Given the description of an element on the screen output the (x, y) to click on. 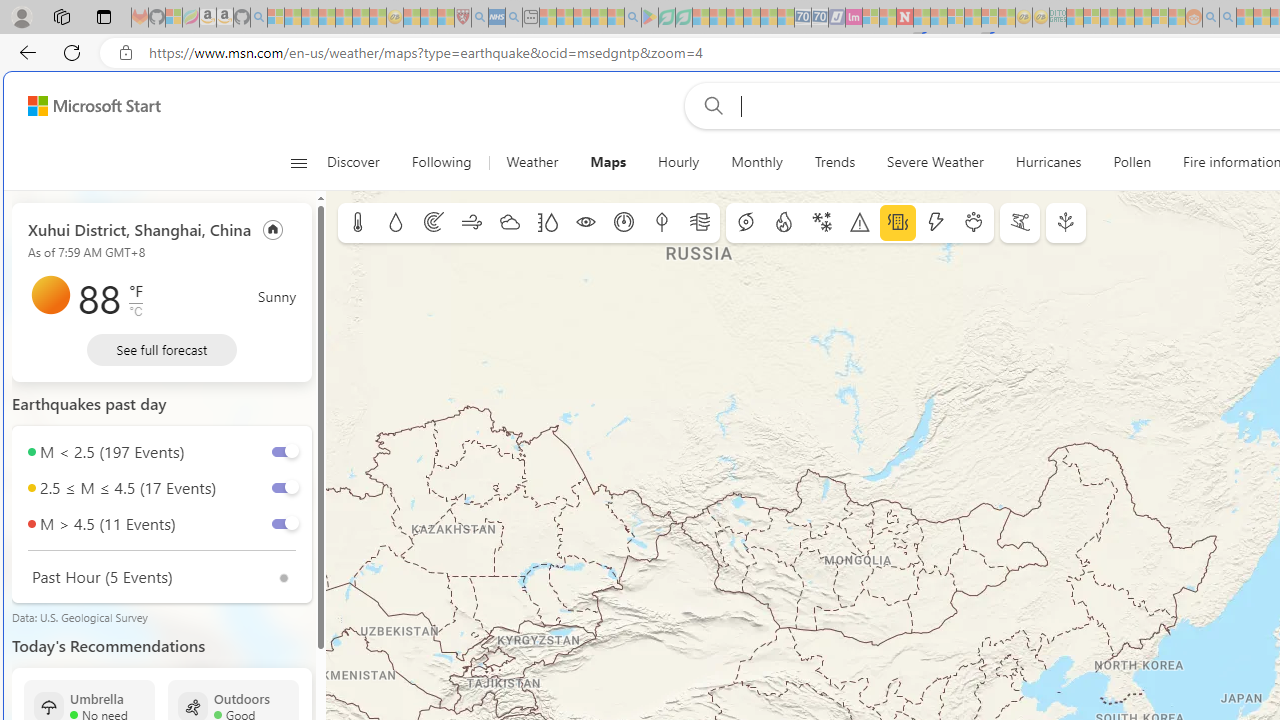
Kinda Frugal - MSN - Sleeping (1142, 17)
Trends (835, 162)
The Weather Channel - MSN - Sleeping (309, 17)
Following (441, 162)
Earthquake (898, 223)
New tab - Sleeping (530, 17)
Utah sues federal government - Search - Sleeping (1227, 17)
Pollen (974, 223)
